Given the description of an element on the screen output the (x, y) to click on. 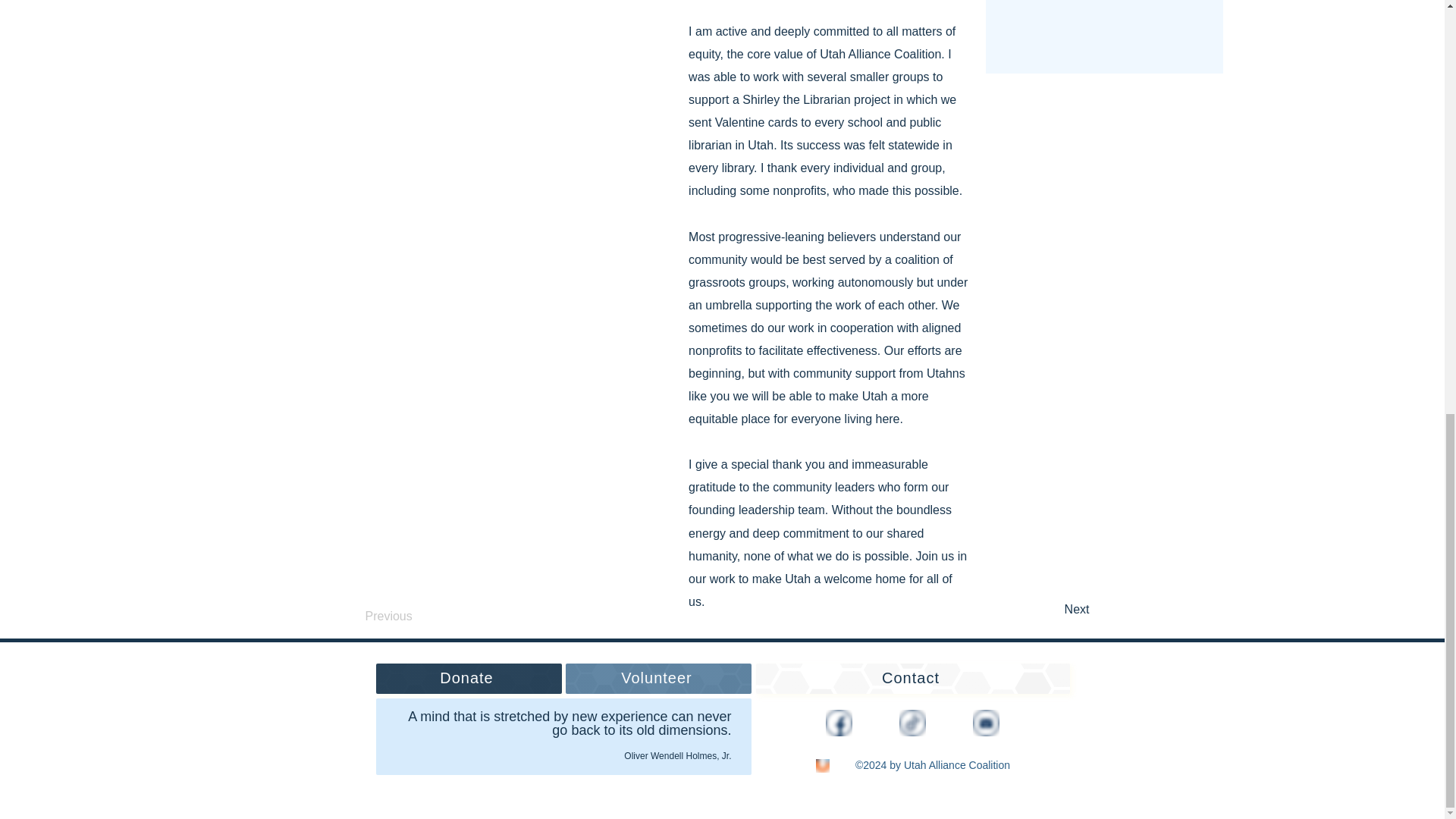
Volunteer (658, 678)
Next (1051, 609)
Contact (911, 678)
Previous (415, 616)
Donate (468, 678)
